Given the description of an element on the screen output the (x, y) to click on. 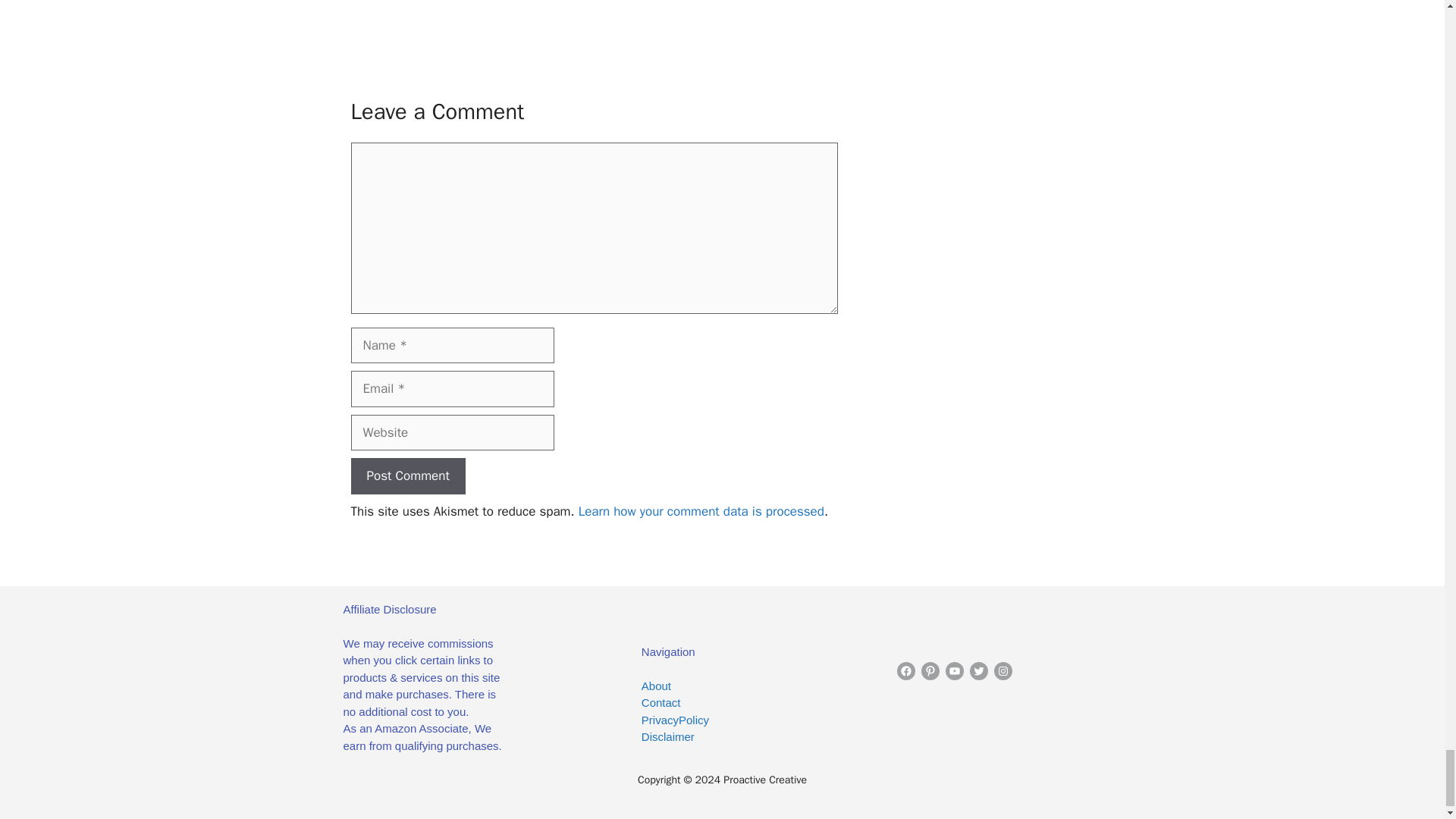
Post Comment (407, 475)
